Given the description of an element on the screen output the (x, y) to click on. 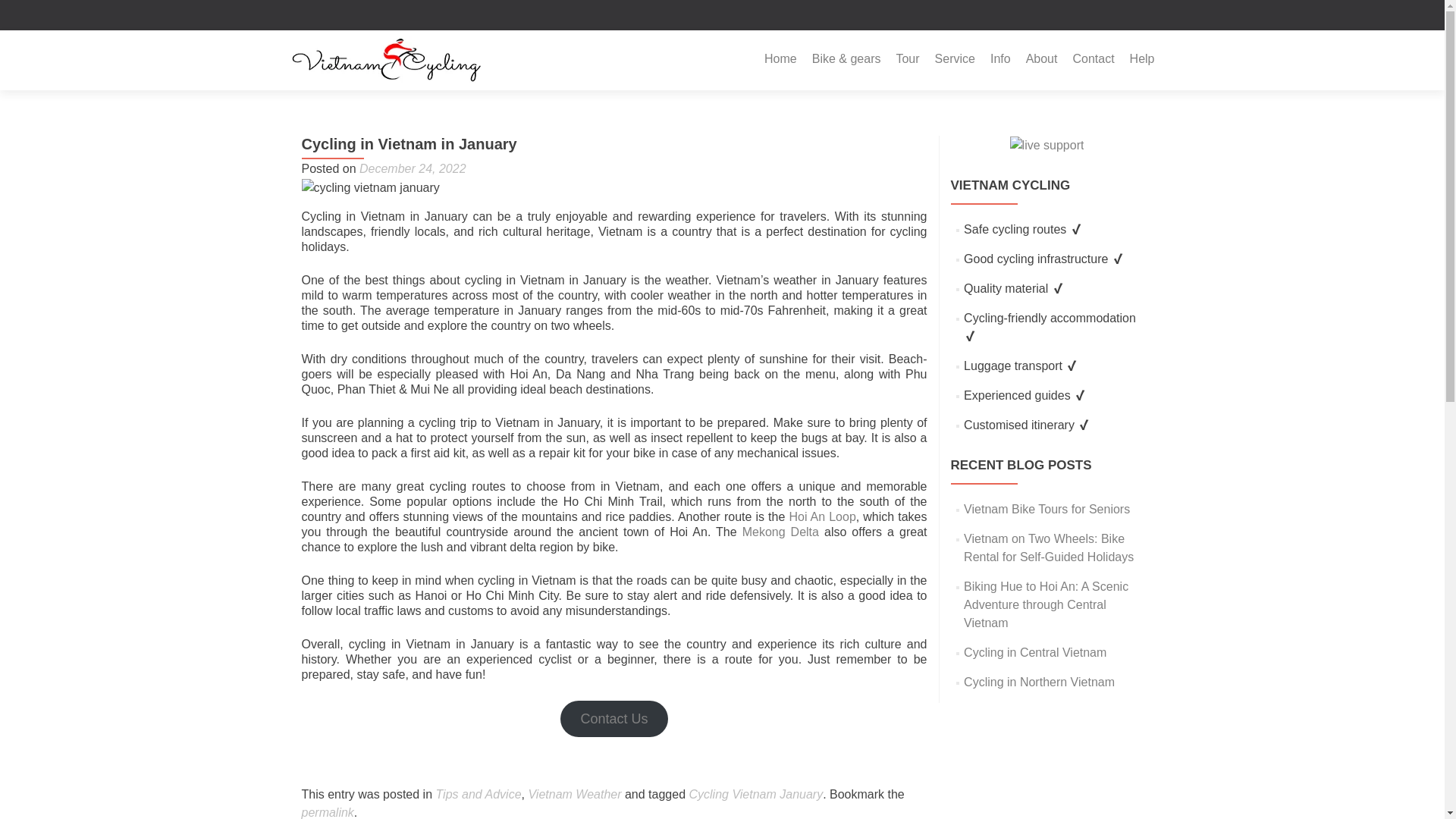
Home (780, 58)
Bike and gears (846, 58)
Travel service (954, 58)
